Given the description of an element on the screen output the (x, y) to click on. 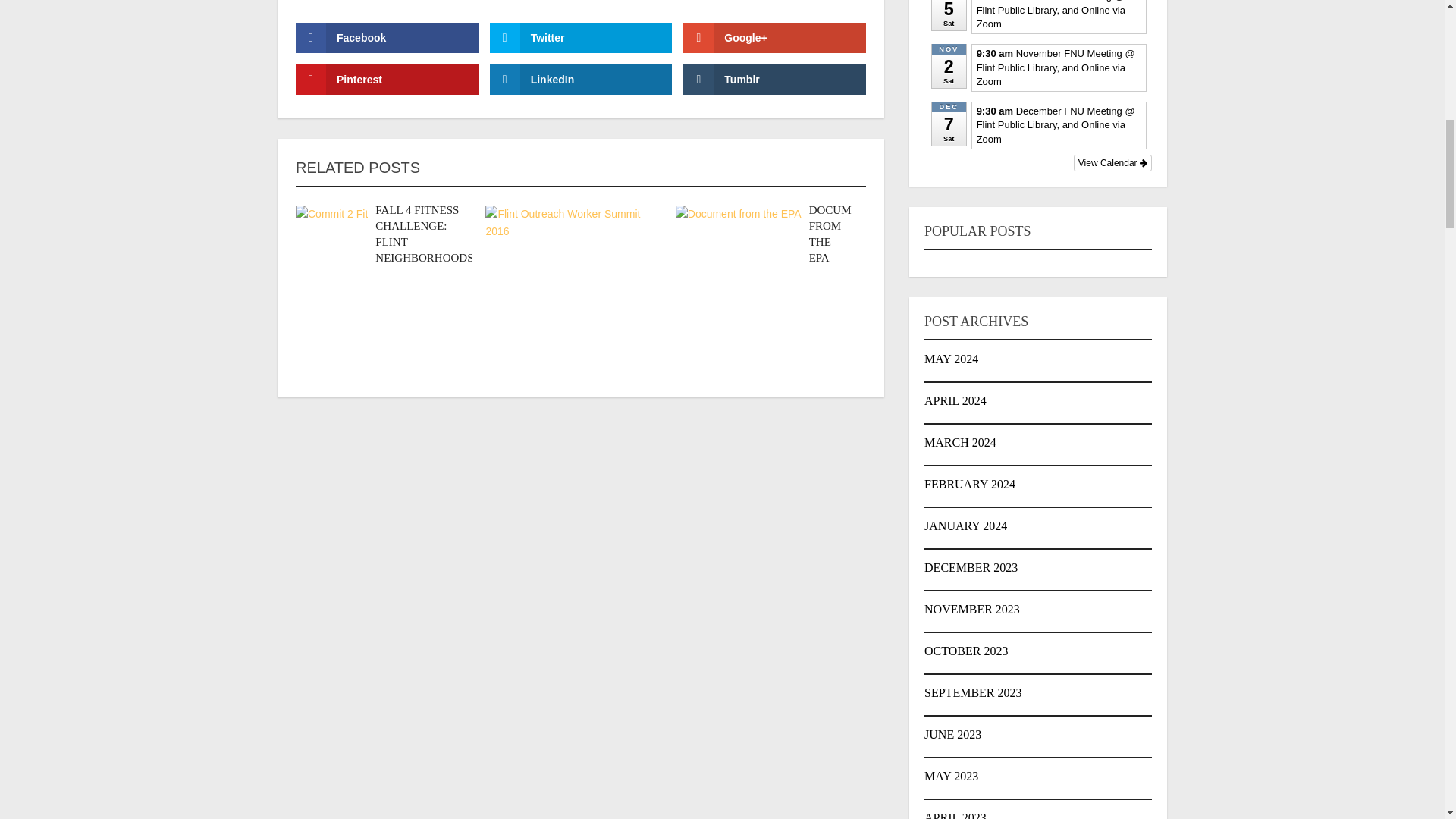
DOCUMENT FROM THE EPA (841, 233)
LinkedIn (580, 79)
Tumblr (774, 79)
Pinterest (387, 79)
FALL 4 FITNESS CHALLENGE: FLINT NEIGHBORHOODS (424, 233)
Fall 4 Fitness Challenge: Flint Neighborhoods (331, 241)
Fall 4 Fitness Challenge: Flint Neighborhoods (424, 233)
Document from the EPA (841, 233)
Twitter (580, 37)
Facebook (387, 37)
Document from the EPA (738, 268)
Flint Outreach Worker Summit 2016 (568, 289)
